Given the description of an element on the screen output the (x, y) to click on. 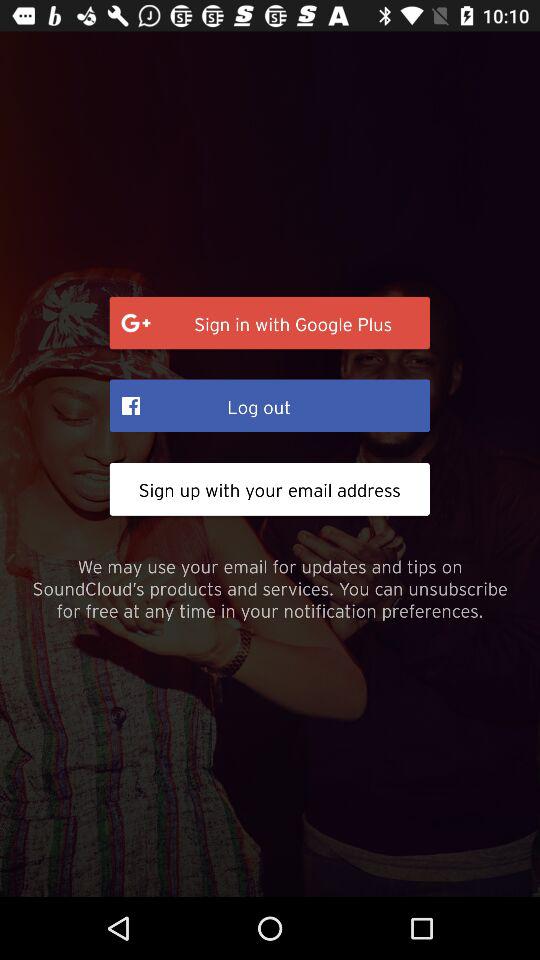
tap the icon above sign up with item (269, 405)
